Given the description of an element on the screen output the (x, y) to click on. 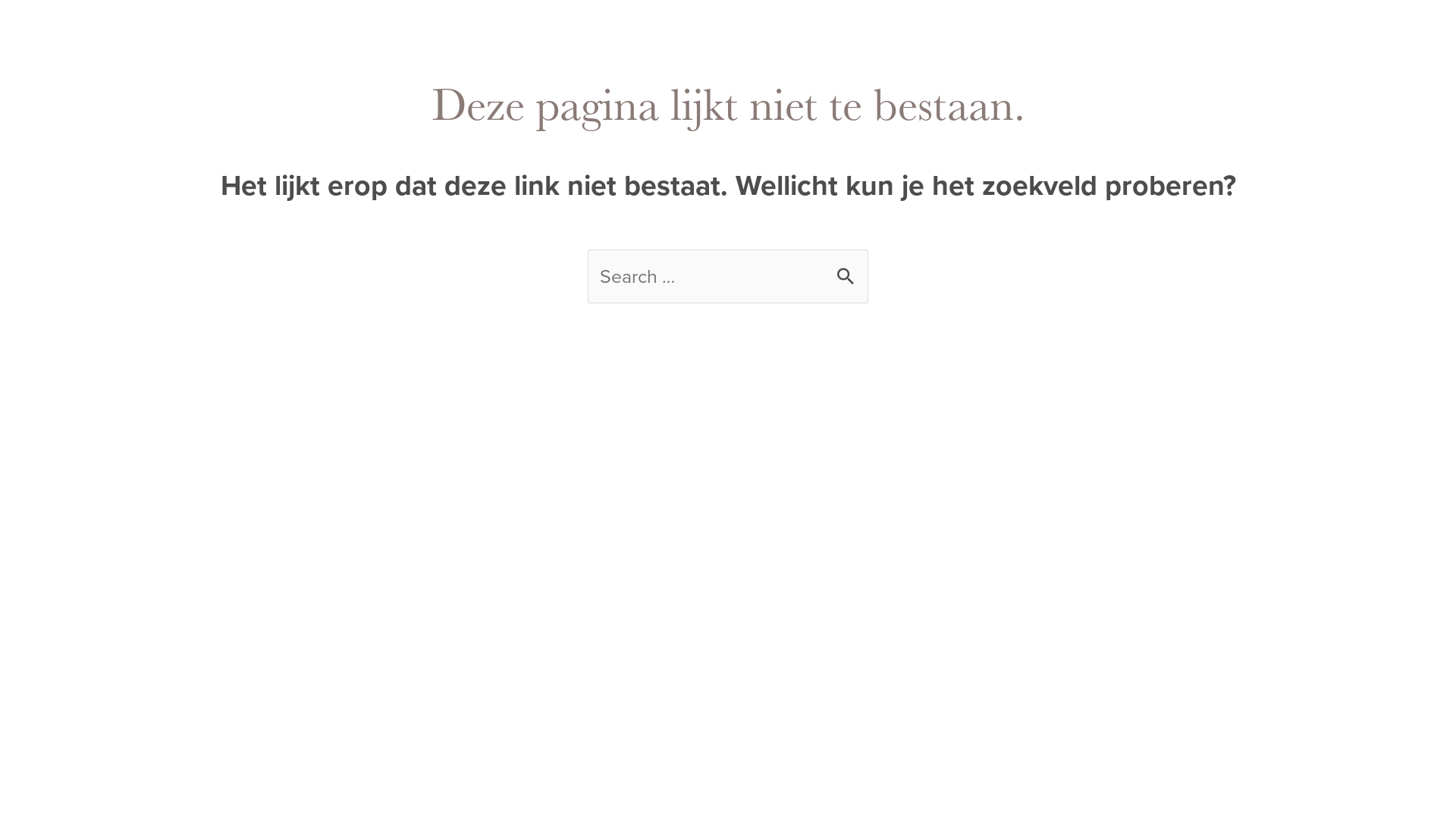
Zoeken Element type: text (851, 268)
